Given the description of an element on the screen output the (x, y) to click on. 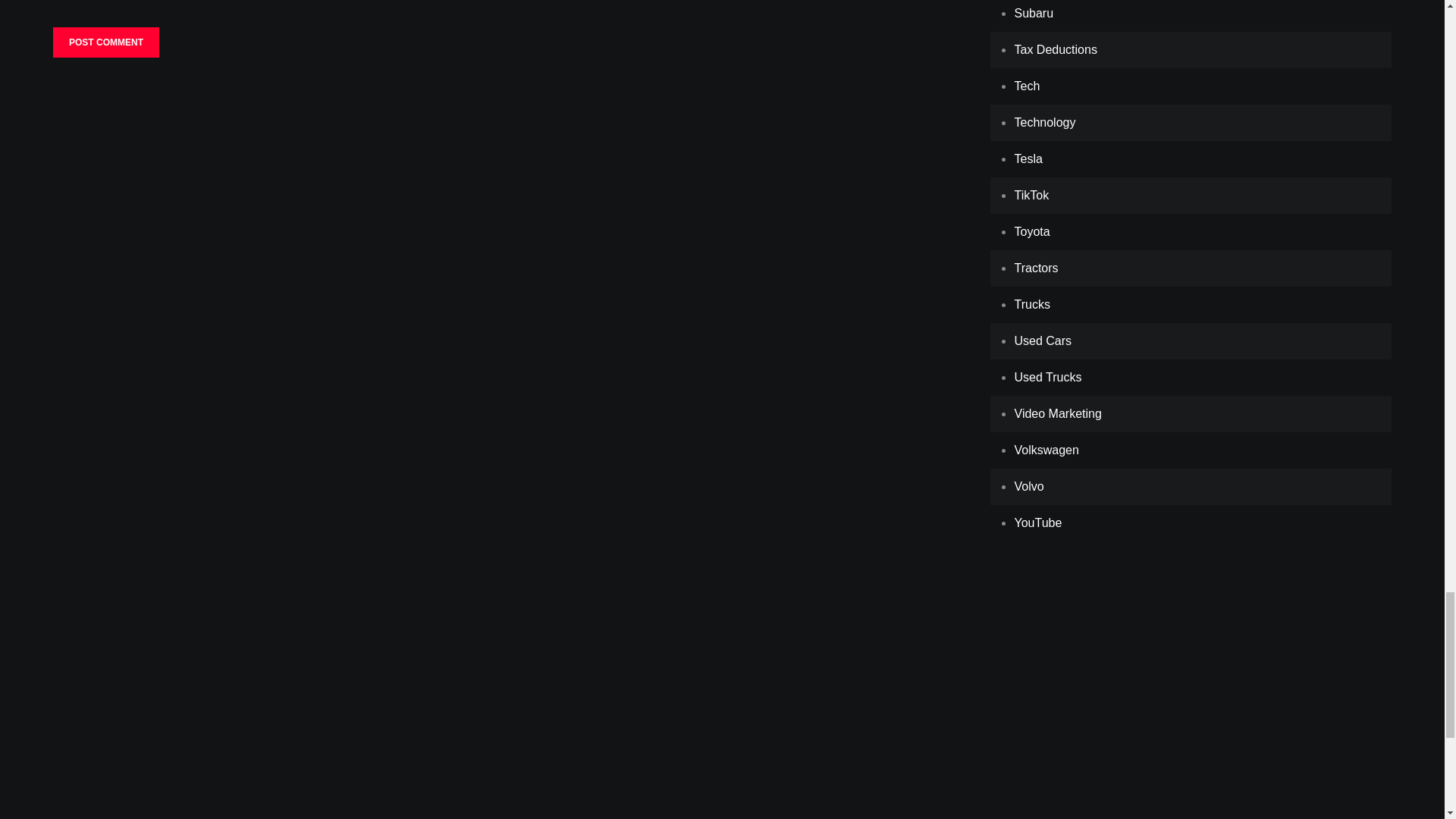
Post Comment (105, 42)
